Given the description of an element on the screen output the (x, y) to click on. 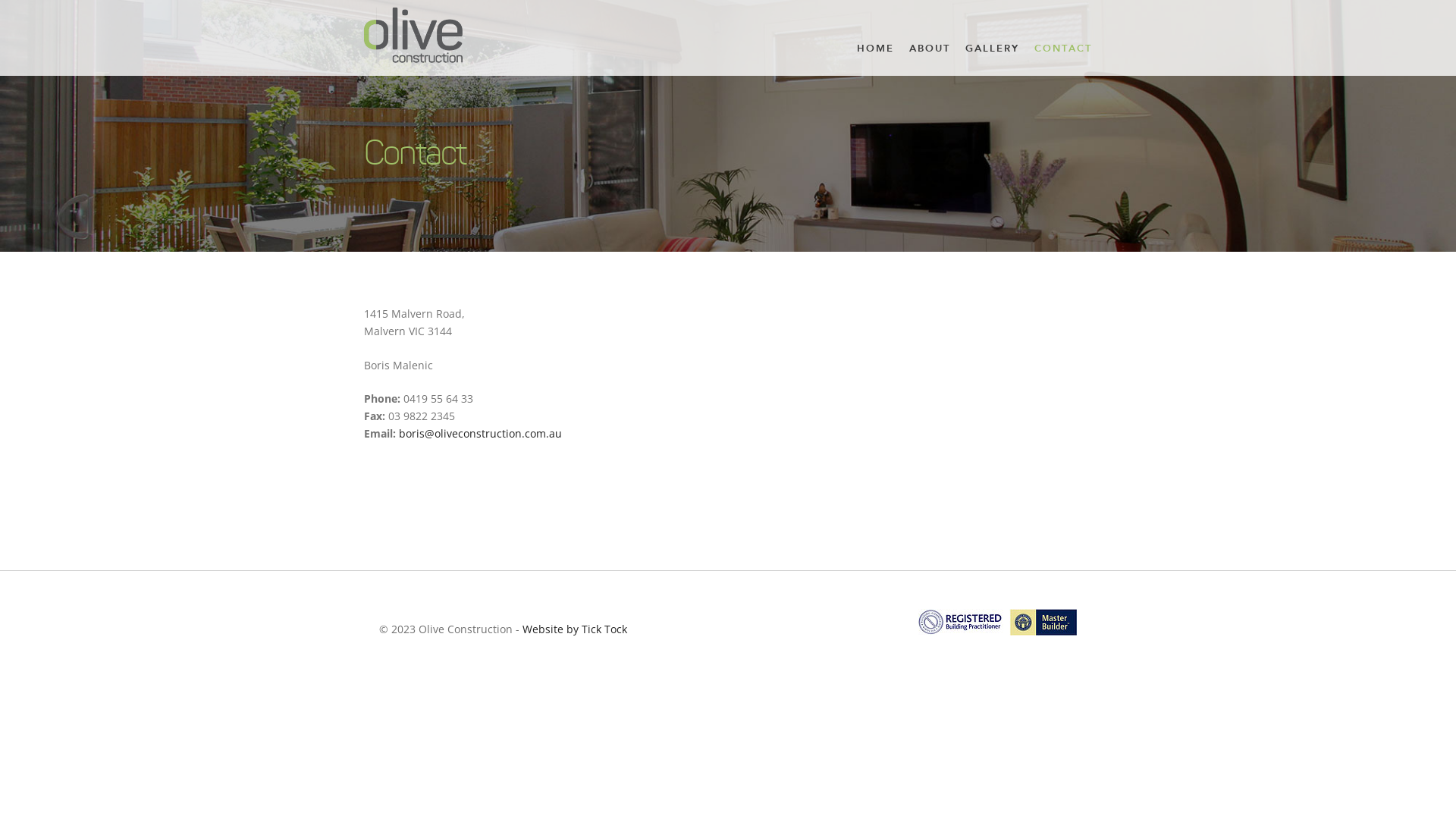
ABOUT Element type: text (929, 49)
GALLERY Element type: text (992, 49)
Website by Tick Tock Element type: text (574, 628)
SKIP TO CONTENT Element type: text (896, 49)
boris@oliveconstruction.com.au Element type: text (479, 433)
HOME Element type: text (875, 49)
CONTACT Element type: text (1063, 49)
Olive Construction Element type: hover (413, 33)
